Given the description of an element on the screen output the (x, y) to click on. 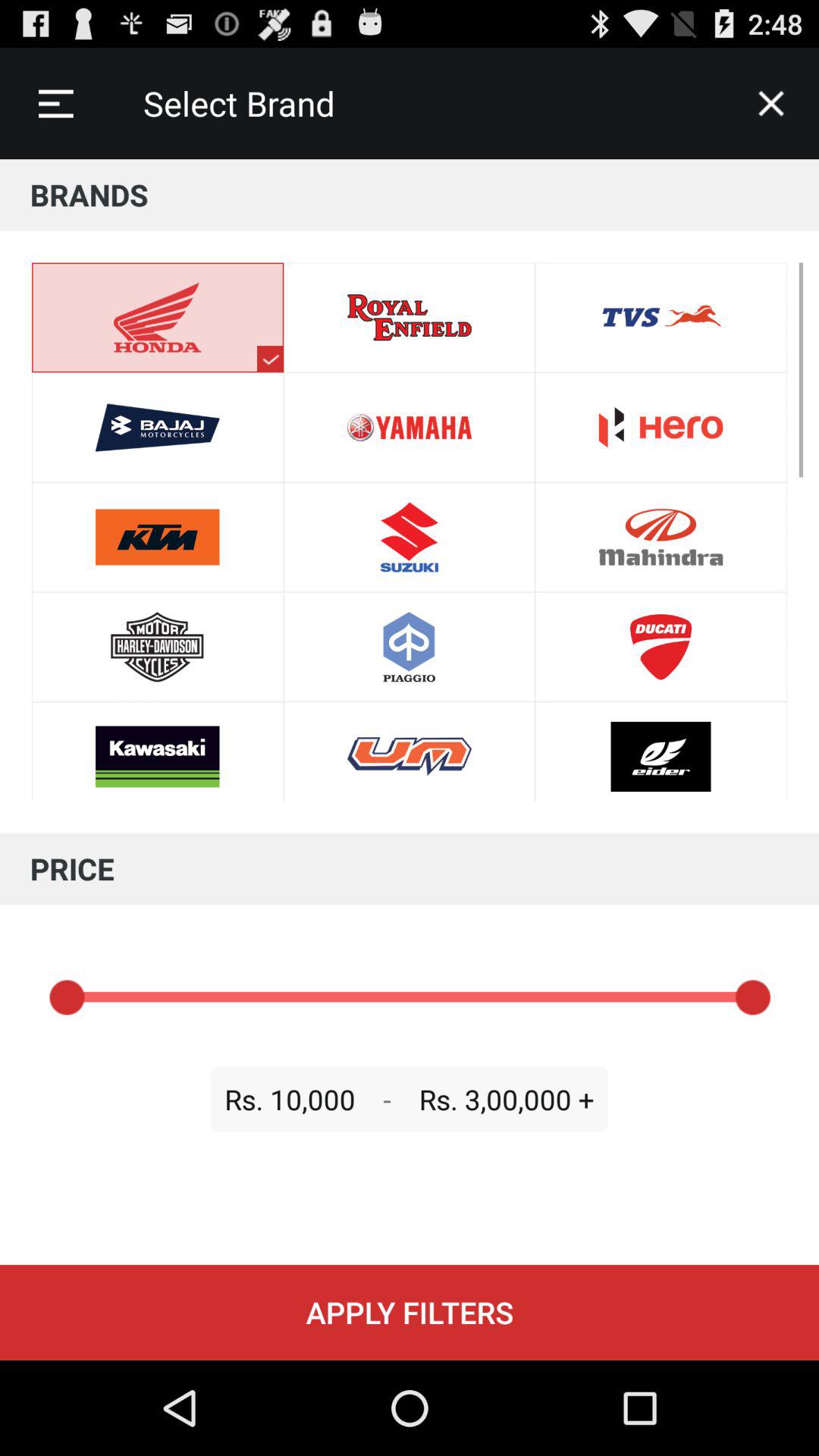
select the logo beside kawasaki icon (409, 751)
click on the third logo below brands (157, 536)
click on honda  left to royal enfield (409, 751)
click on the fourth logo below brands (157, 646)
the cross mark icon at the top right corner (771, 103)
select the logo below the brands text (270, 358)
select on the level slider below price (409, 997)
select the last logo in the second row from the top (660, 426)
click on second symbol in the third row from the top (409, 536)
click on the close button at the top right corner of the page (771, 103)
click on the honda symbol at the top left of the page (157, 317)
click on bajaj above ktm (157, 426)
